Given the description of an element on the screen output the (x, y) to click on. 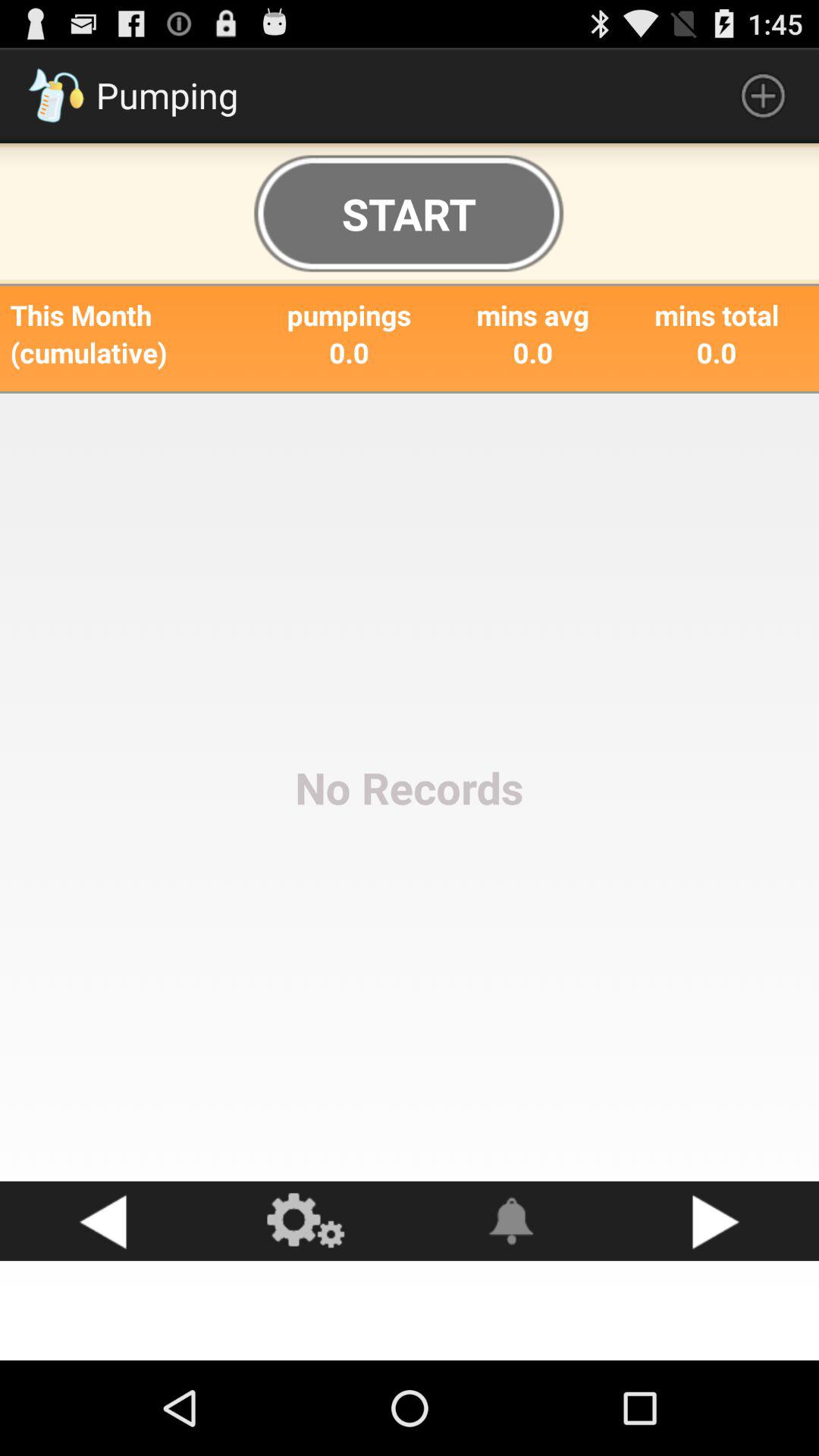
set an alert (511, 1220)
